Given the description of an element on the screen output the (x, y) to click on. 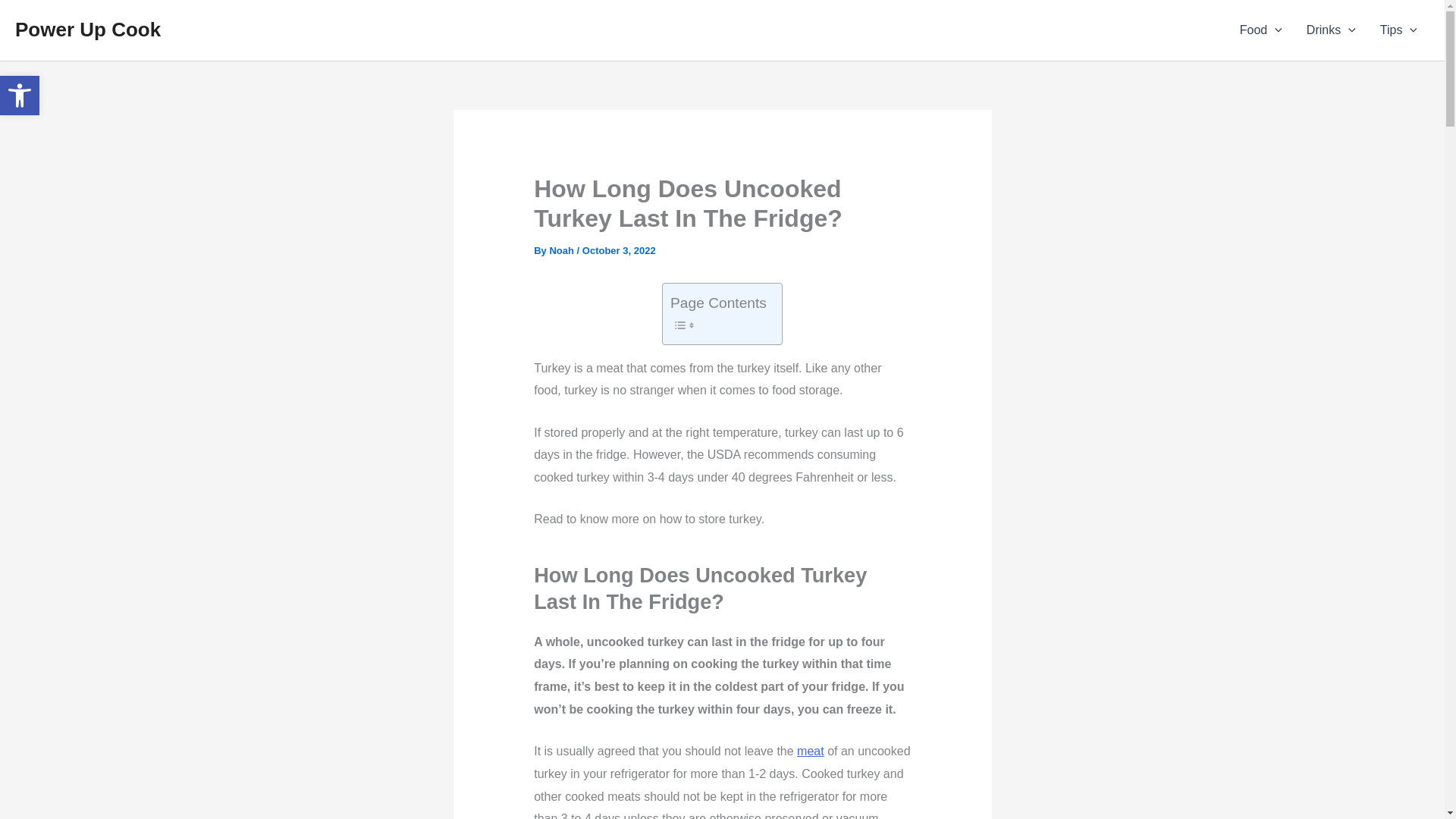
Drinks (1331, 30)
Accessibility Tools (19, 95)
Food (19, 95)
Power Up Cook (1260, 30)
Accessibility Tools (87, 29)
View all posts by Noah (19, 95)
Tips (562, 250)
